Given the description of an element on the screen output the (x, y) to click on. 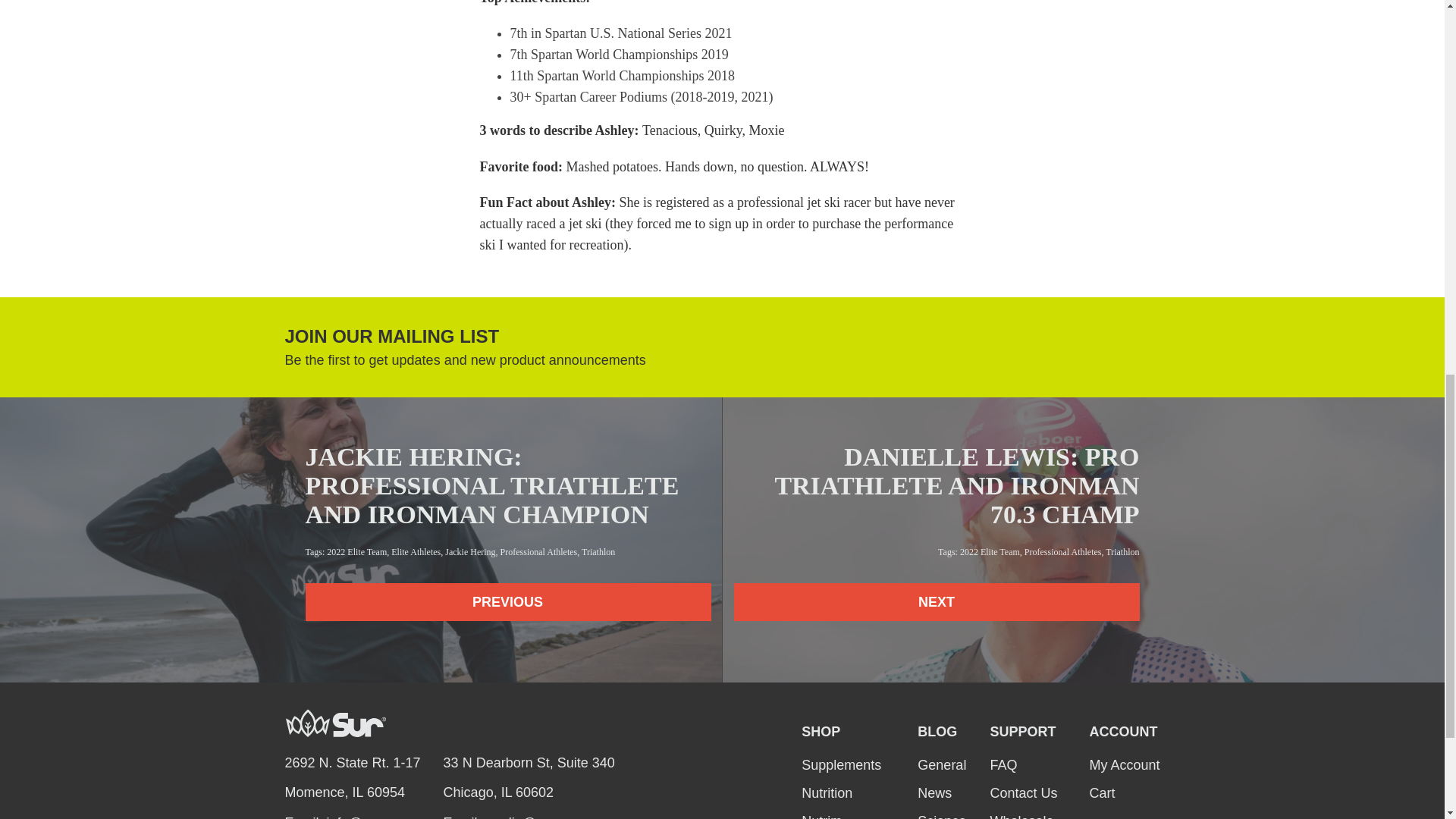
2022 Elite Team (356, 552)
NEXT (936, 601)
Professional Athletes (1063, 552)
PREVIOUS (507, 601)
Elite Athletes (416, 552)
Jackie Hering (470, 552)
Triathlon (1121, 552)
2022 Elite Team (989, 552)
Professional Athletes (539, 552)
Triathlon (597, 552)
